Given the description of an element on the screen output the (x, y) to click on. 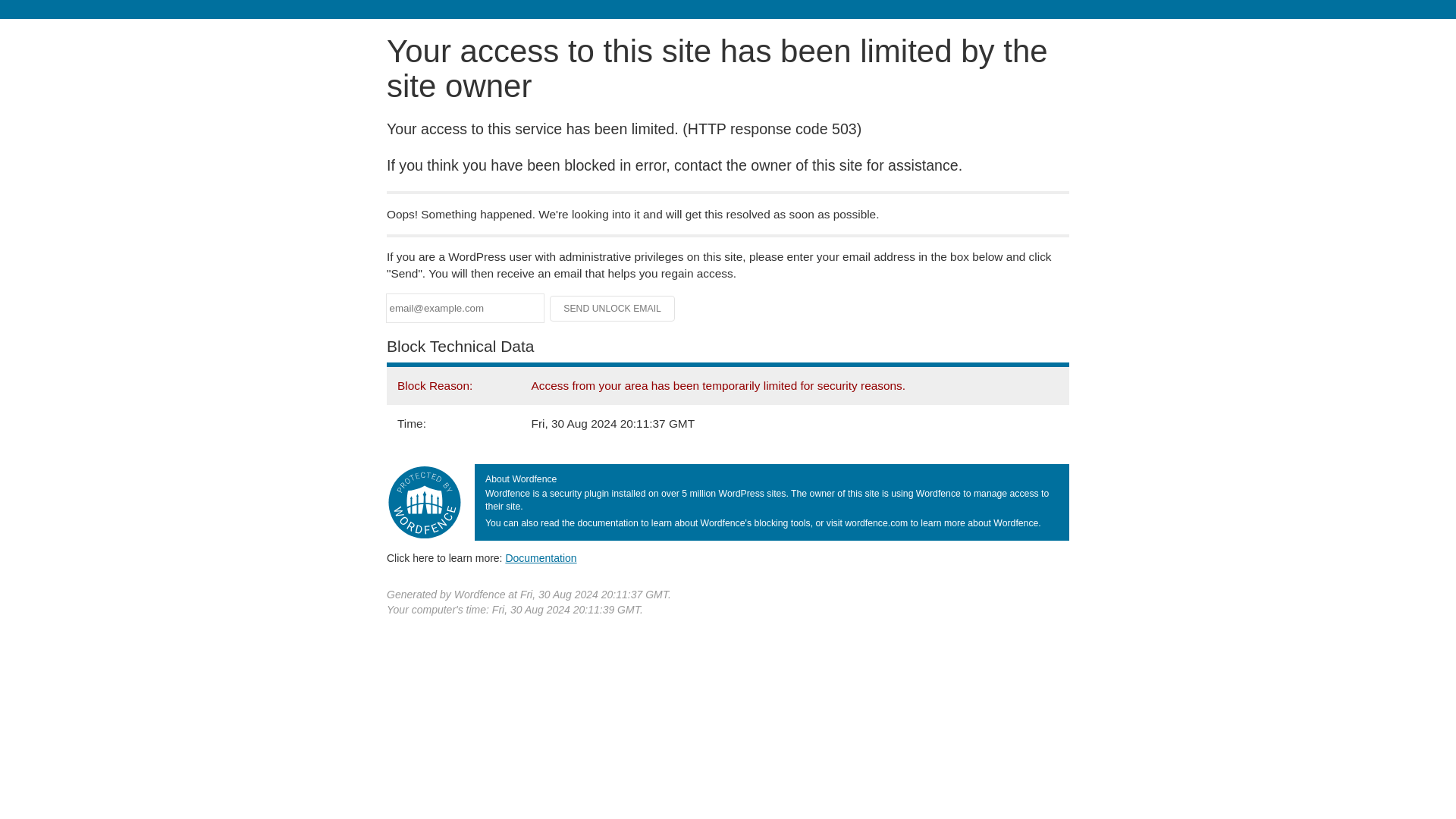
Documentation (540, 558)
Send Unlock Email (612, 308)
Send Unlock Email (612, 308)
